Given the description of an element on the screen output the (x, y) to click on. 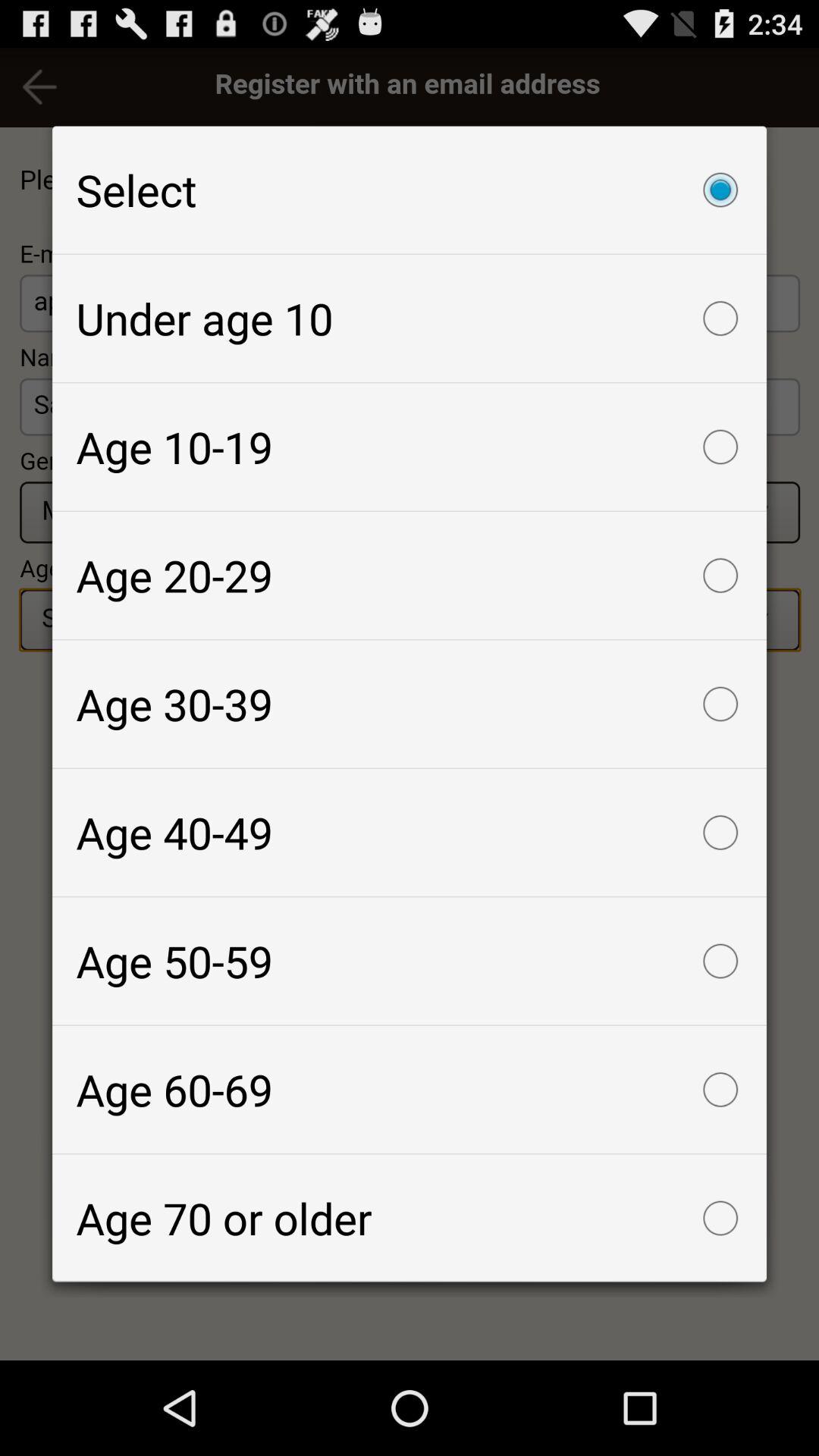
open the checkbox below the age 50-59 checkbox (409, 1089)
